Given the description of an element on the screen output the (x, y) to click on. 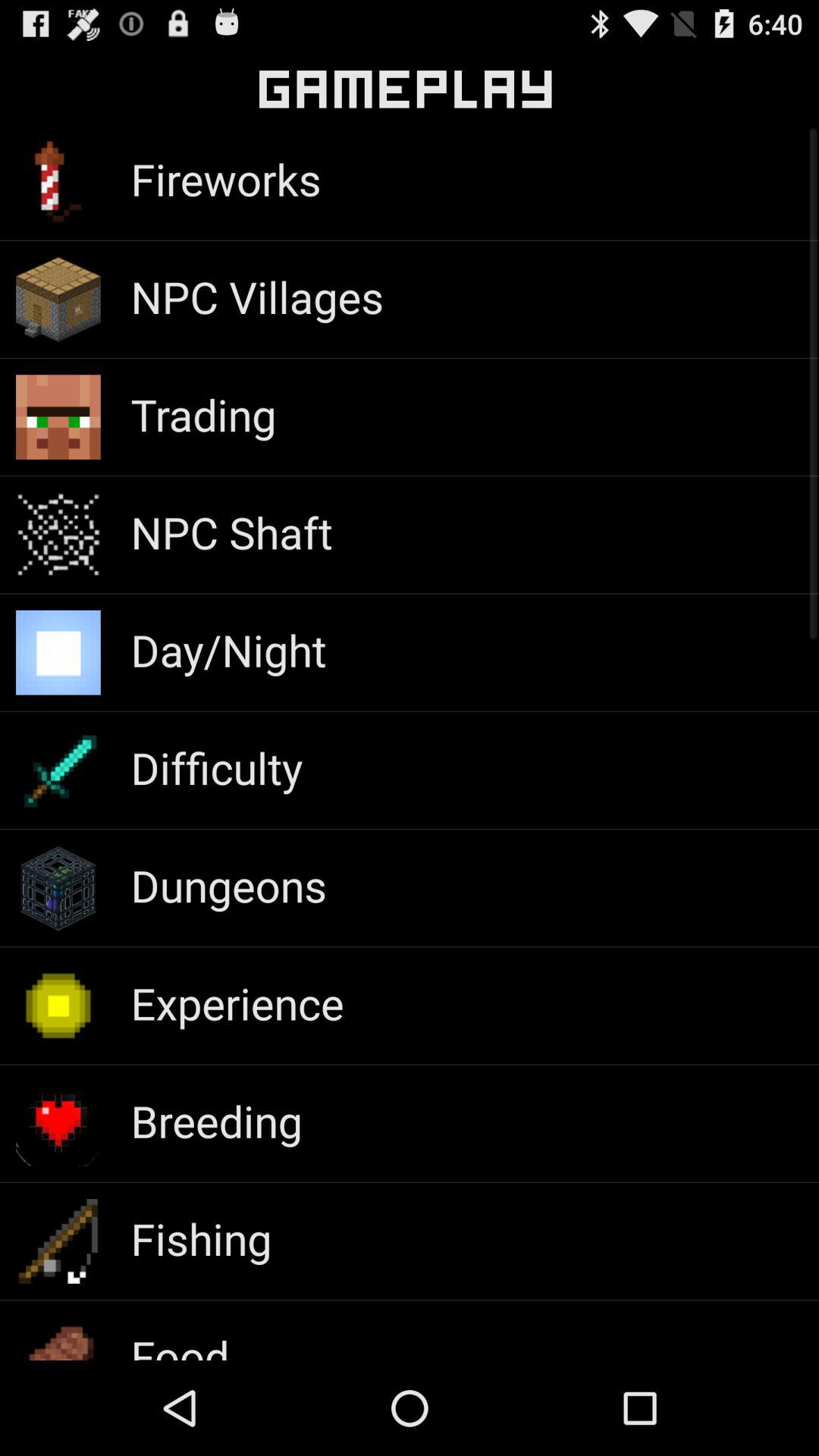
swipe to npc shaft (231, 531)
